Given the description of an element on the screen output the (x, y) to click on. 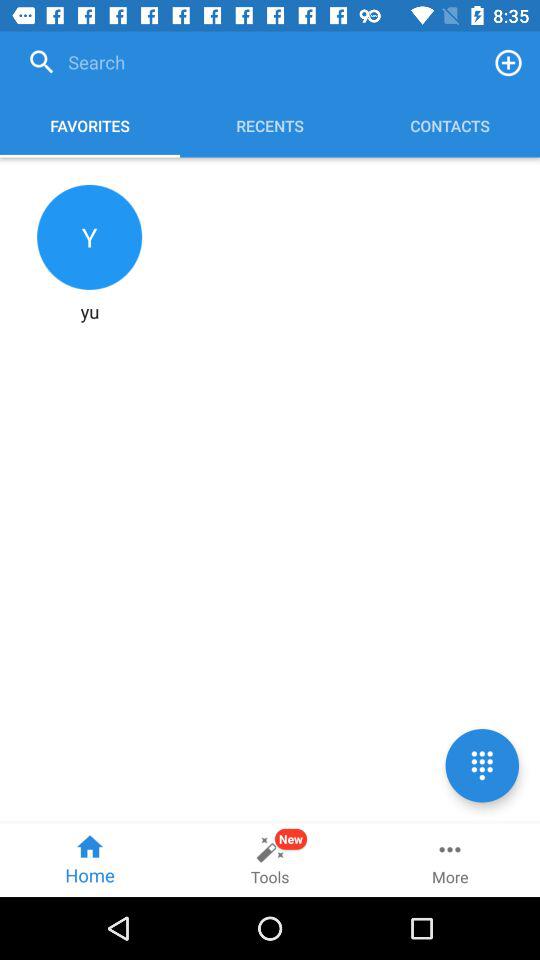
turn off item below contacts item (482, 765)
